Given the description of an element on the screen output the (x, y) to click on. 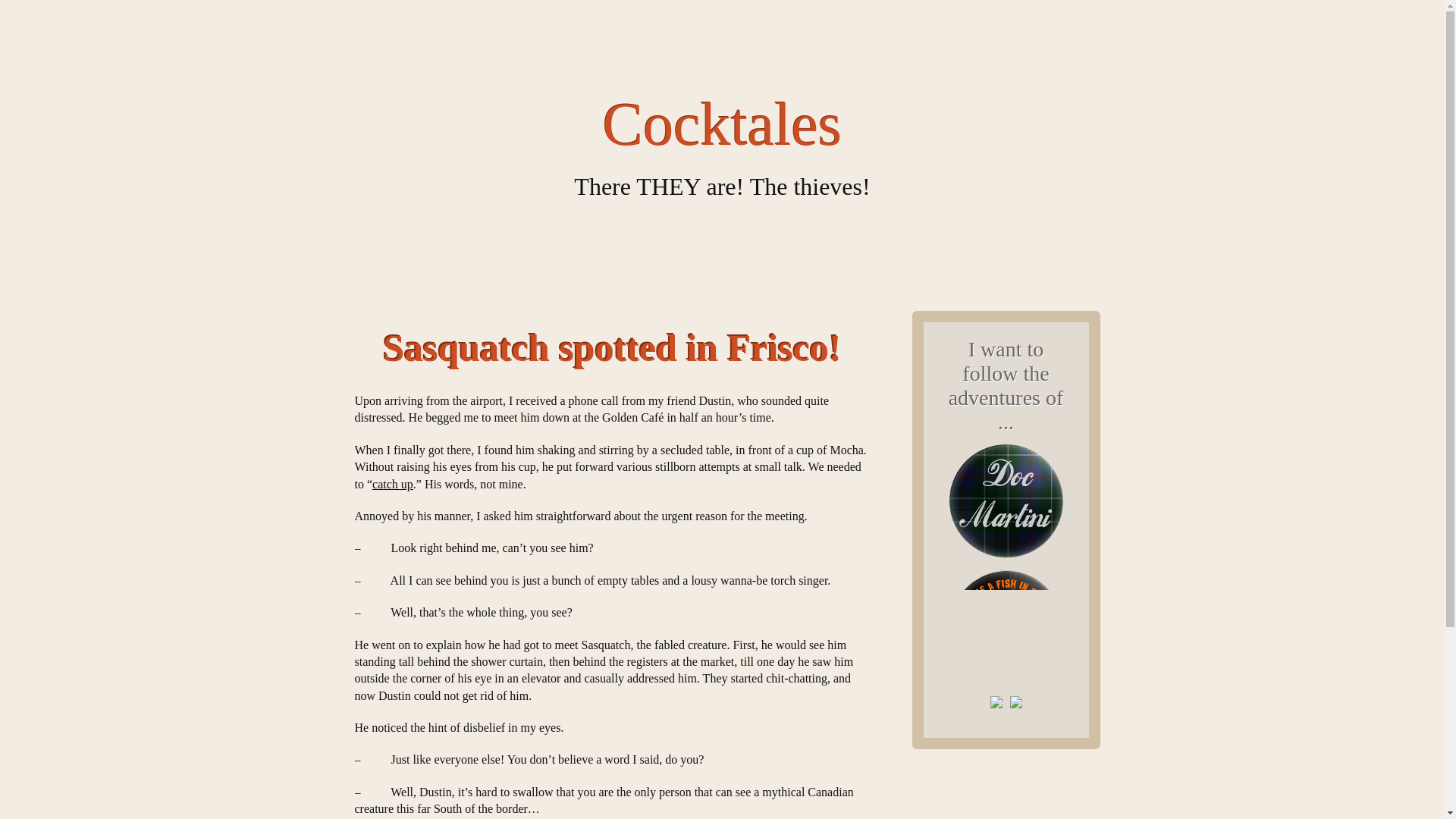
Follow Doc Martini's adventures! (1005, 563)
... or jump to a random adventure!!! (1015, 713)
Cocktales (721, 124)
Follow LiteraDeathKult's adventures! (997, 713)
Cocktales (721, 124)
Follow Fish of the Abyss's adventures! (1005, 689)
